Given the description of an element on the screen output the (x, y) to click on. 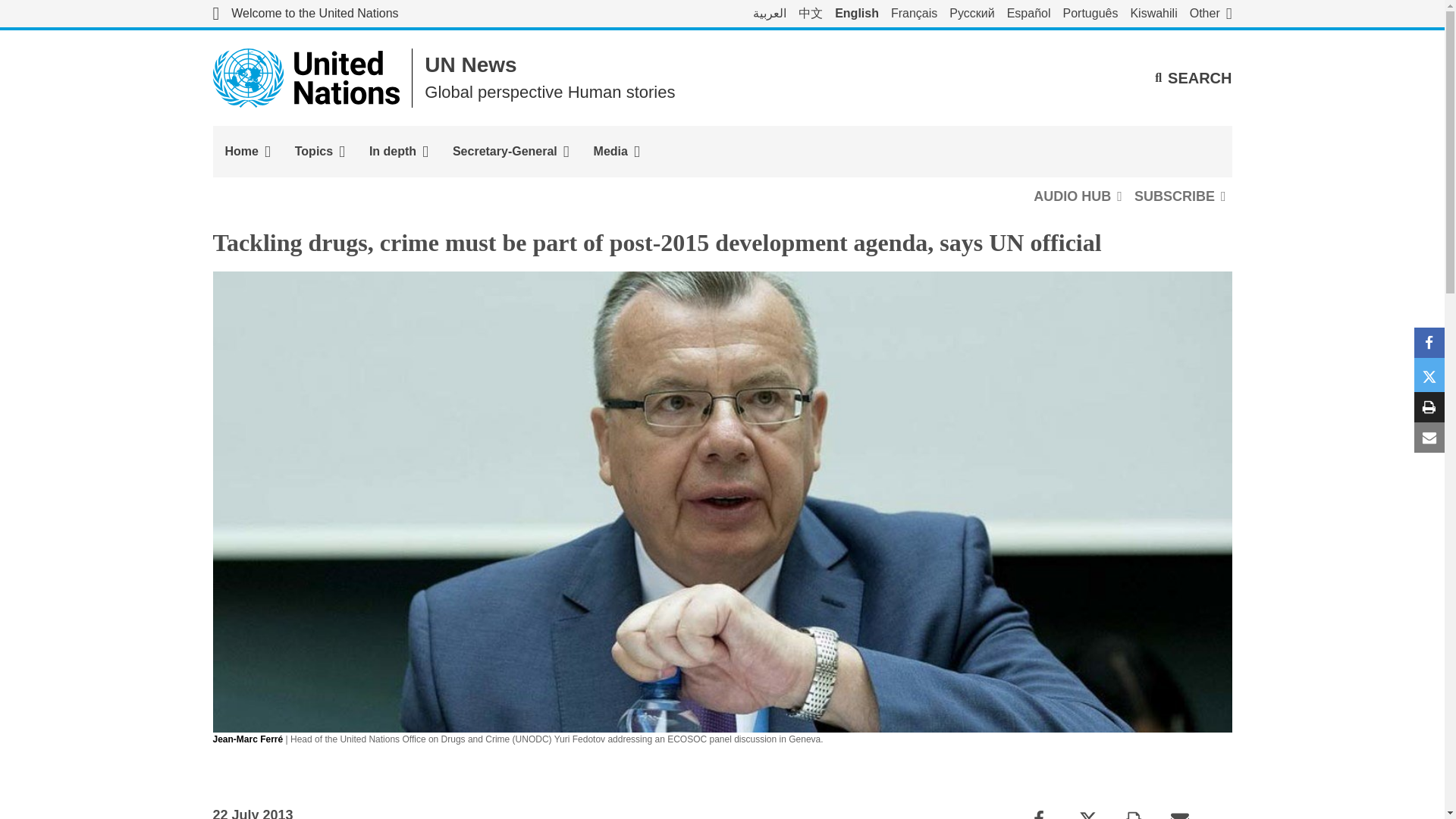
SEARCH (1192, 77)
United Nations (304, 13)
Welcome to the United Nations (304, 13)
Home (247, 151)
UN News (470, 64)
UN News (470, 64)
English (856, 13)
Kiswahili (1152, 13)
Other (1210, 13)
Home (247, 151)
Topics (319, 151)
United Nations (305, 76)
